Given the description of an element on the screen output the (x, y) to click on. 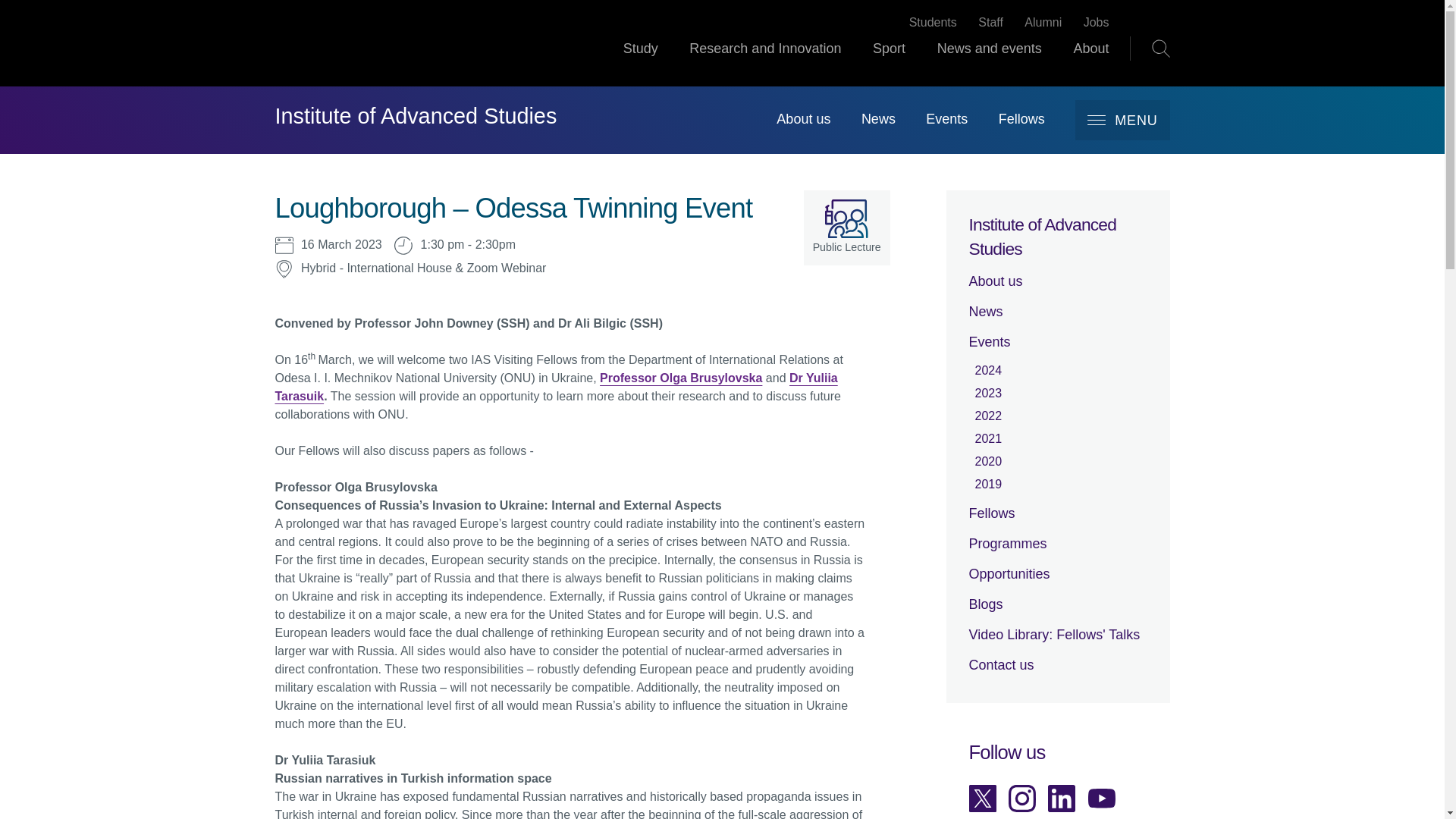
Events (947, 119)
Staff (990, 22)
Alumni (1043, 22)
MENU (1122, 119)
Toggle global search (1160, 48)
Fellows (1021, 119)
News (878, 119)
Institute of Advanced Studies (415, 116)
About us (802, 119)
Research and Innovation (764, 61)
